Given the description of an element on the screen output the (x, y) to click on. 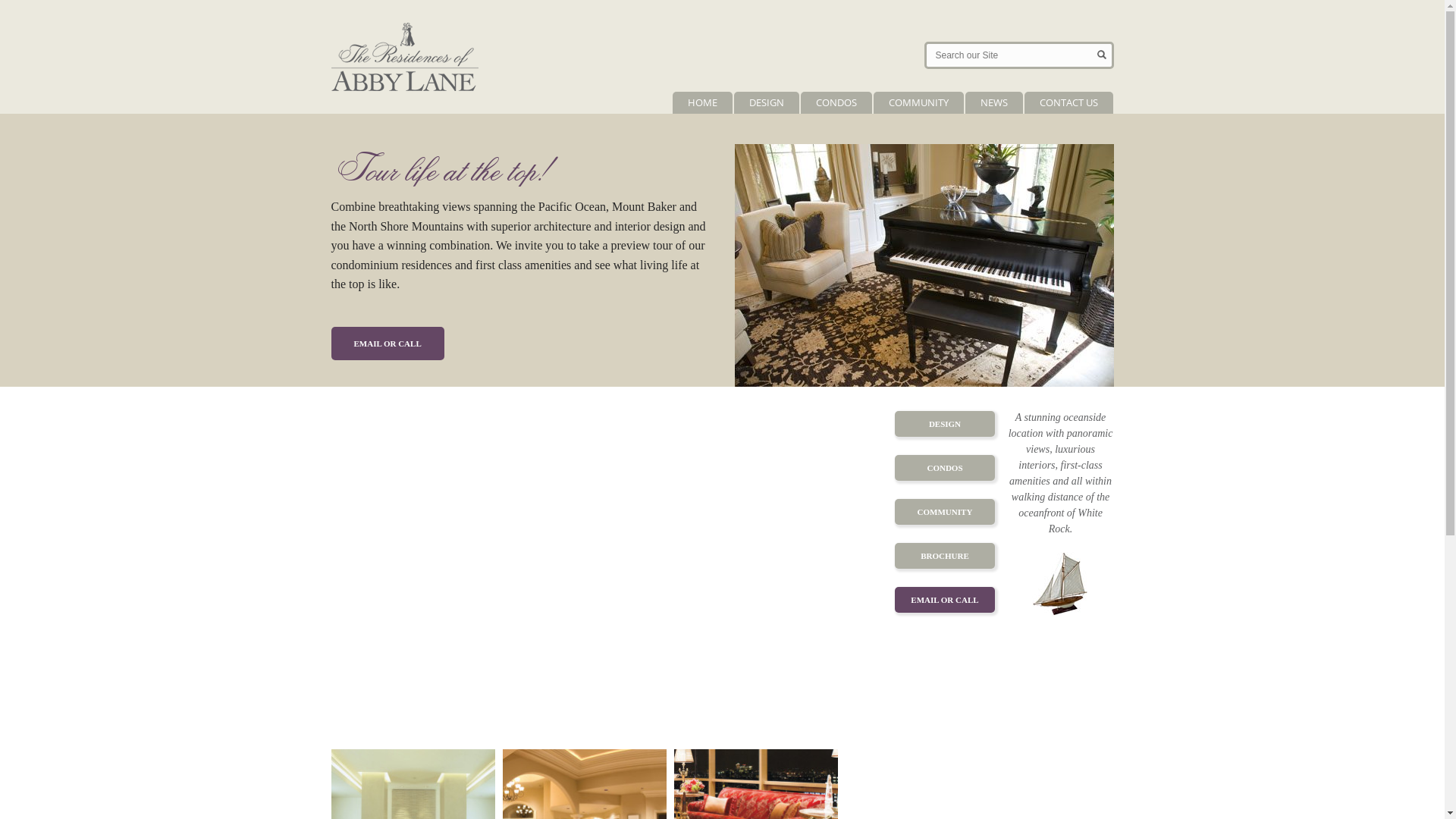
CONTACT US Element type: text (1067, 102)
COMMUNITY Element type: text (944, 511)
DESIGN Element type: text (766, 102)
BROCHURE Element type: text (944, 555)
NEWS Element type: text (993, 102)
CONDOS Element type: text (836, 102)
EMAIL OR CALL Element type: text (944, 599)
CONDOS Element type: text (944, 467)
HOME Element type: text (701, 102)
COMMUNITY Element type: text (918, 102)
EMAIL OR CALL Element type: text (386, 343)
DESIGN Element type: text (944, 423)
